Given the description of an element on the screen output the (x, y) to click on. 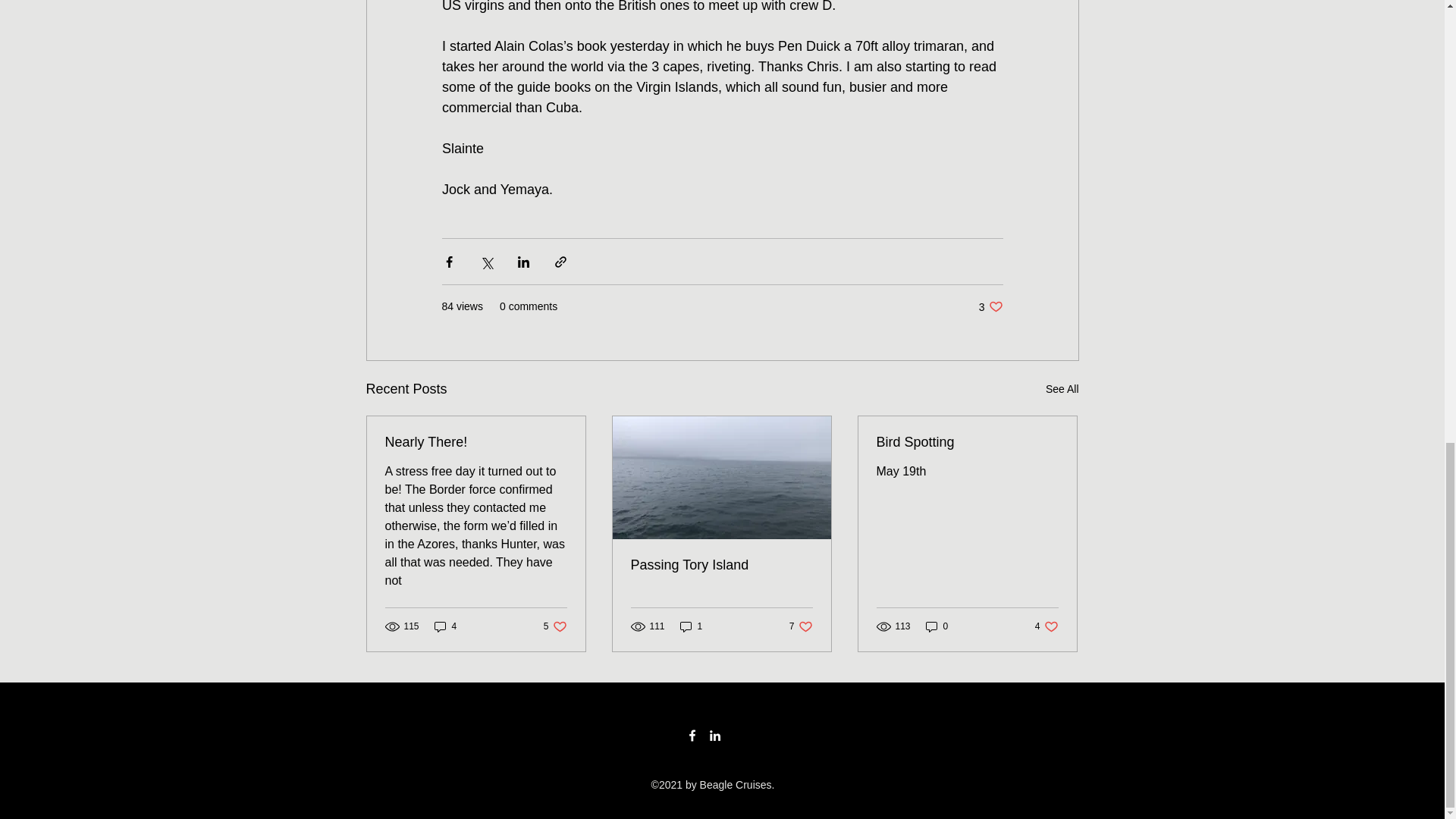
Passing Tory Island (721, 565)
1 (800, 626)
4 (691, 626)
0 (445, 626)
Bird Spotting (555, 626)
See All (937, 626)
